Given the description of an element on the screen output the (x, y) to click on. 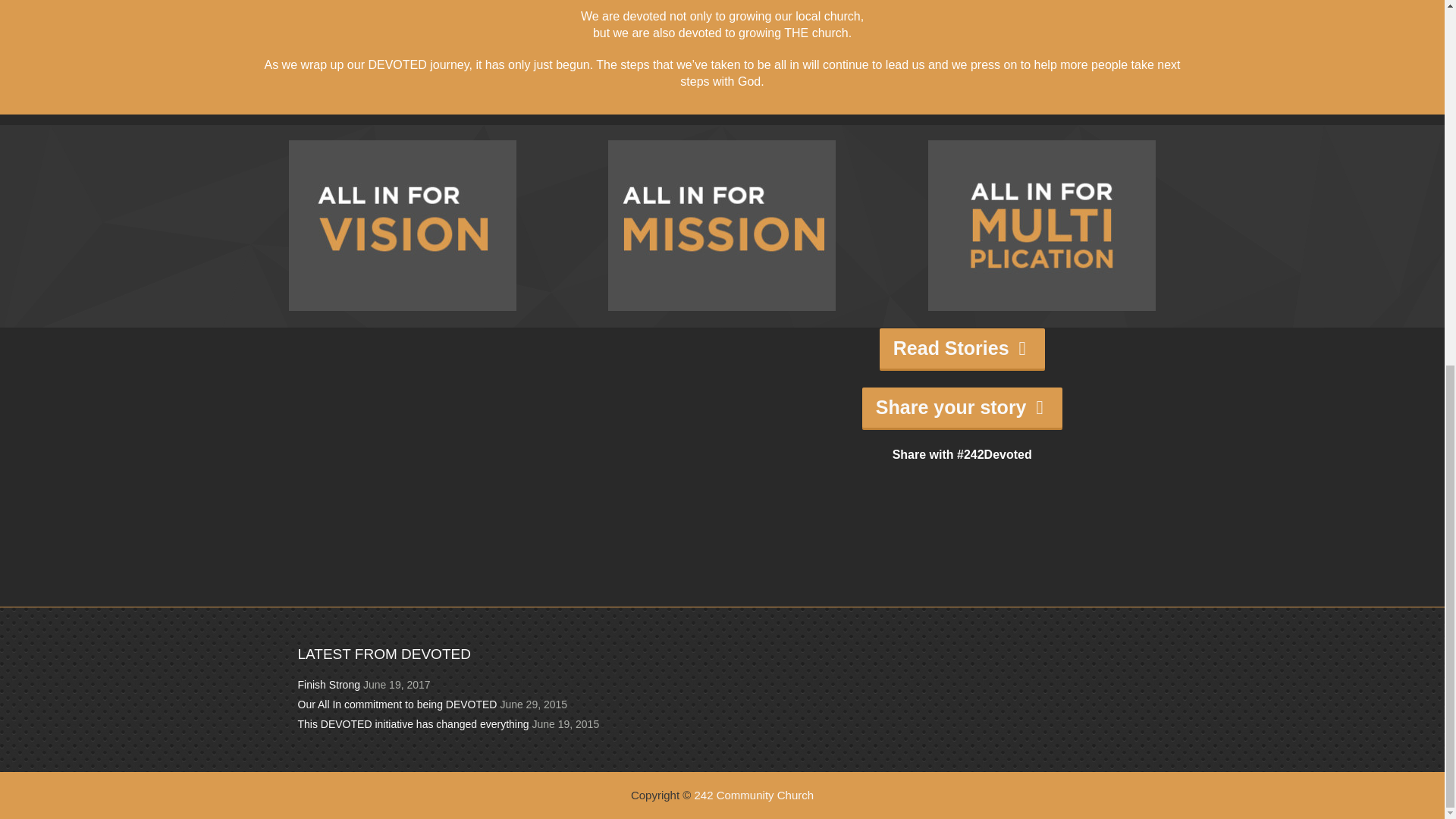
This DEVOTED initiative has changed everything (412, 724)
242 Community Church (753, 794)
Read Stories (962, 348)
Finish Strong (328, 684)
Share your story (961, 407)
242 Community Church (753, 794)
Our All In commitment to being DEVOTED (396, 704)
